Given the description of an element on the screen output the (x, y) to click on. 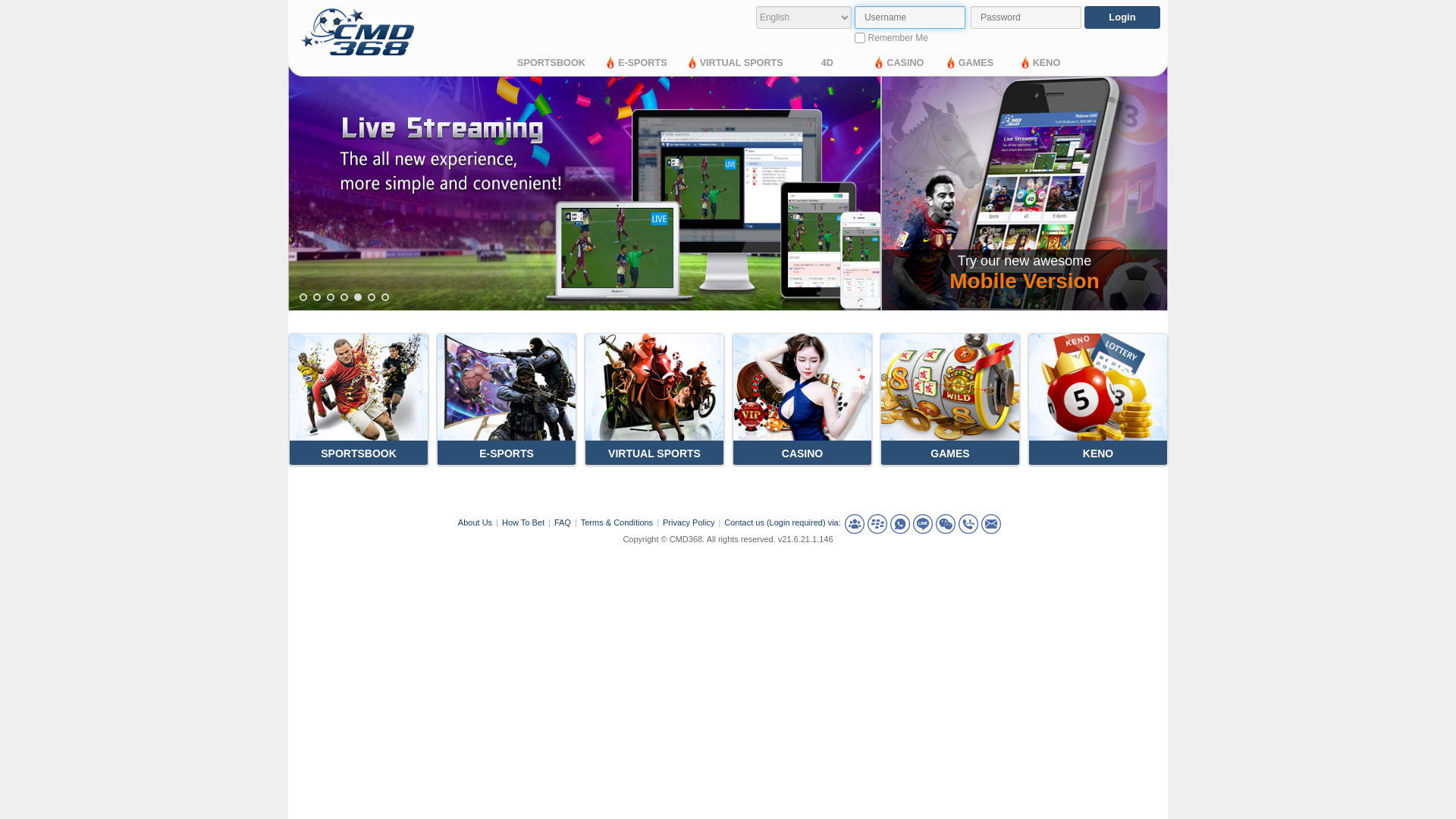
E-SPORTS Element type: text (634, 63)
VIRTUAL SPORTS Element type: text (733, 63)
CASINO Element type: text (897, 63)
About Us Element type: text (475, 522)
How To Bet Element type: text (523, 522)
Login Element type: text (1122, 17)
4D Element type: text (827, 62)
FAQ Element type: text (562, 522)
Contact us (Login required) via: Element type: text (782, 522)
Privacy Policy Element type: text (688, 522)
Terms & Conditions Element type: text (616, 522)
KENO Element type: text (1038, 63)
GAMES Element type: text (968, 63)
SPORTSBOOK Element type: text (551, 62)
